Given the description of an element on the screen output the (x, y) to click on. 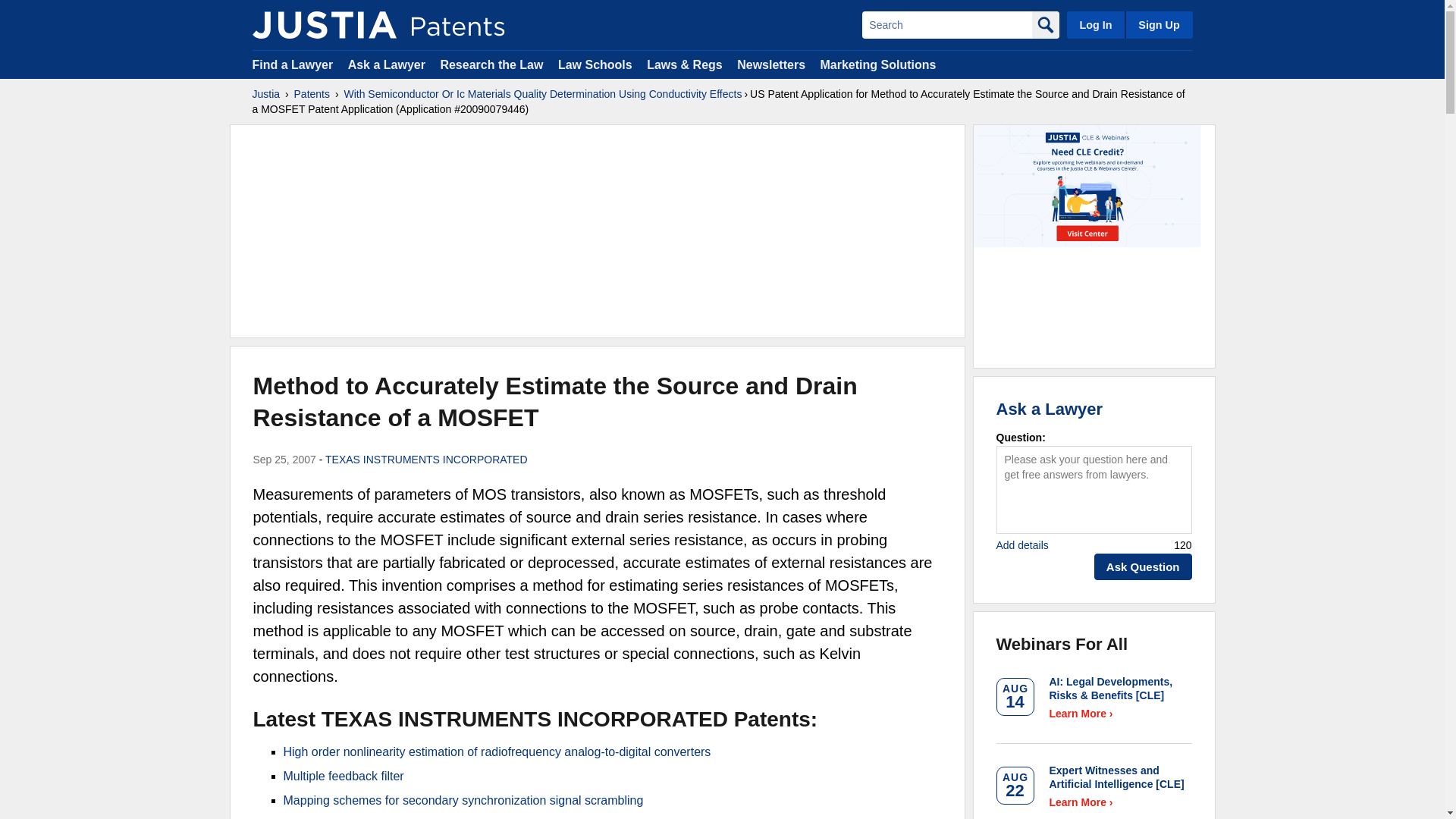
Log In (1094, 24)
Marketing Solutions (877, 64)
Justia (323, 24)
Search (945, 24)
Sign Up (1158, 24)
Patents (312, 93)
Newsletters (770, 64)
Research the Law (491, 64)
Justia (265, 93)
